Given the description of an element on the screen output the (x, y) to click on. 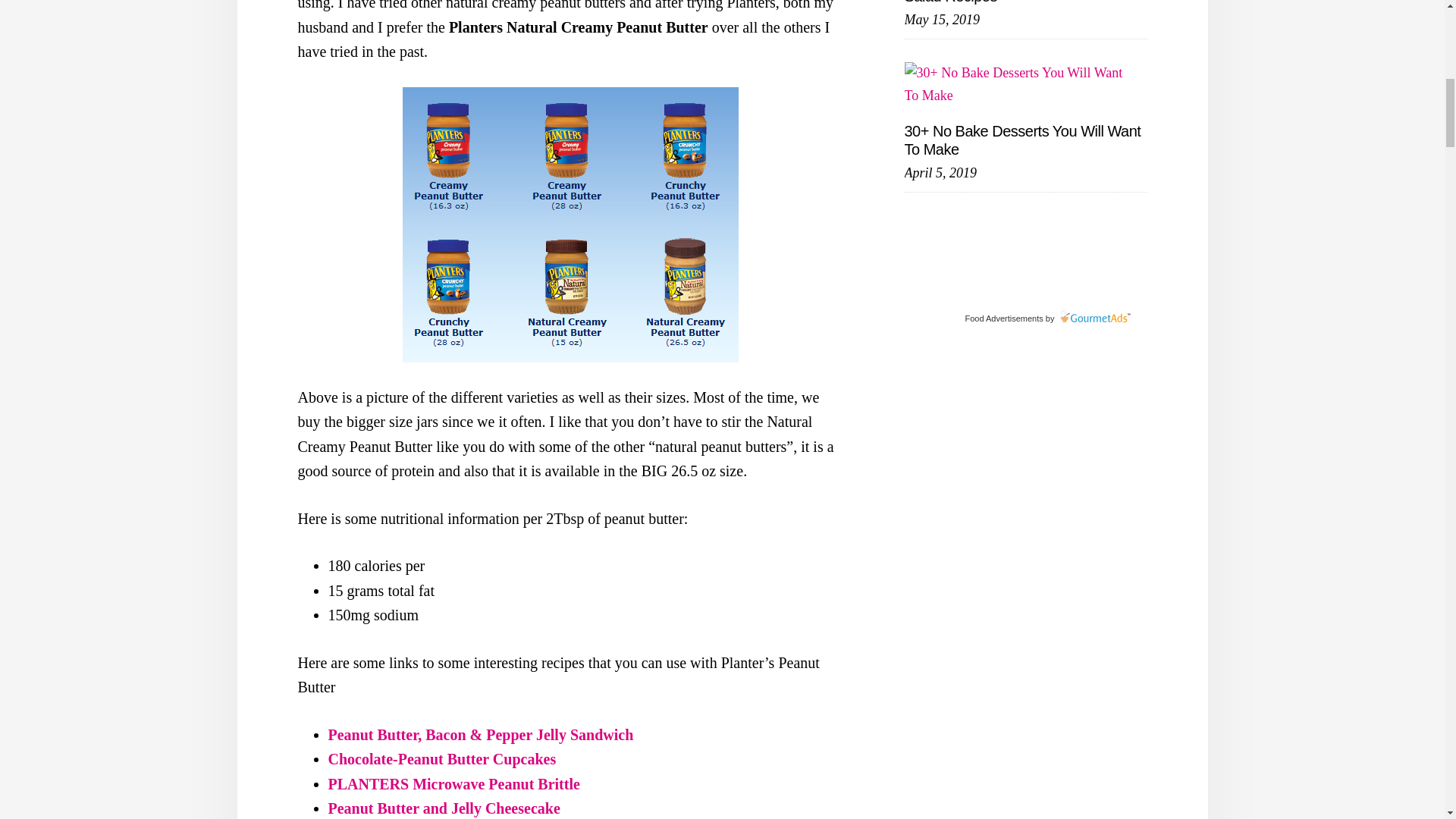
Chocolate-Peanut Butter Cupcakes (441, 759)
planters peanut butter products (570, 224)
Food Advertisements (1002, 317)
Peanut Butter and Jelly Cheesecake (443, 808)
PLANTERS Microwave Peanut Brittle (453, 783)
